Given the description of an element on the screen output the (x, y) to click on. 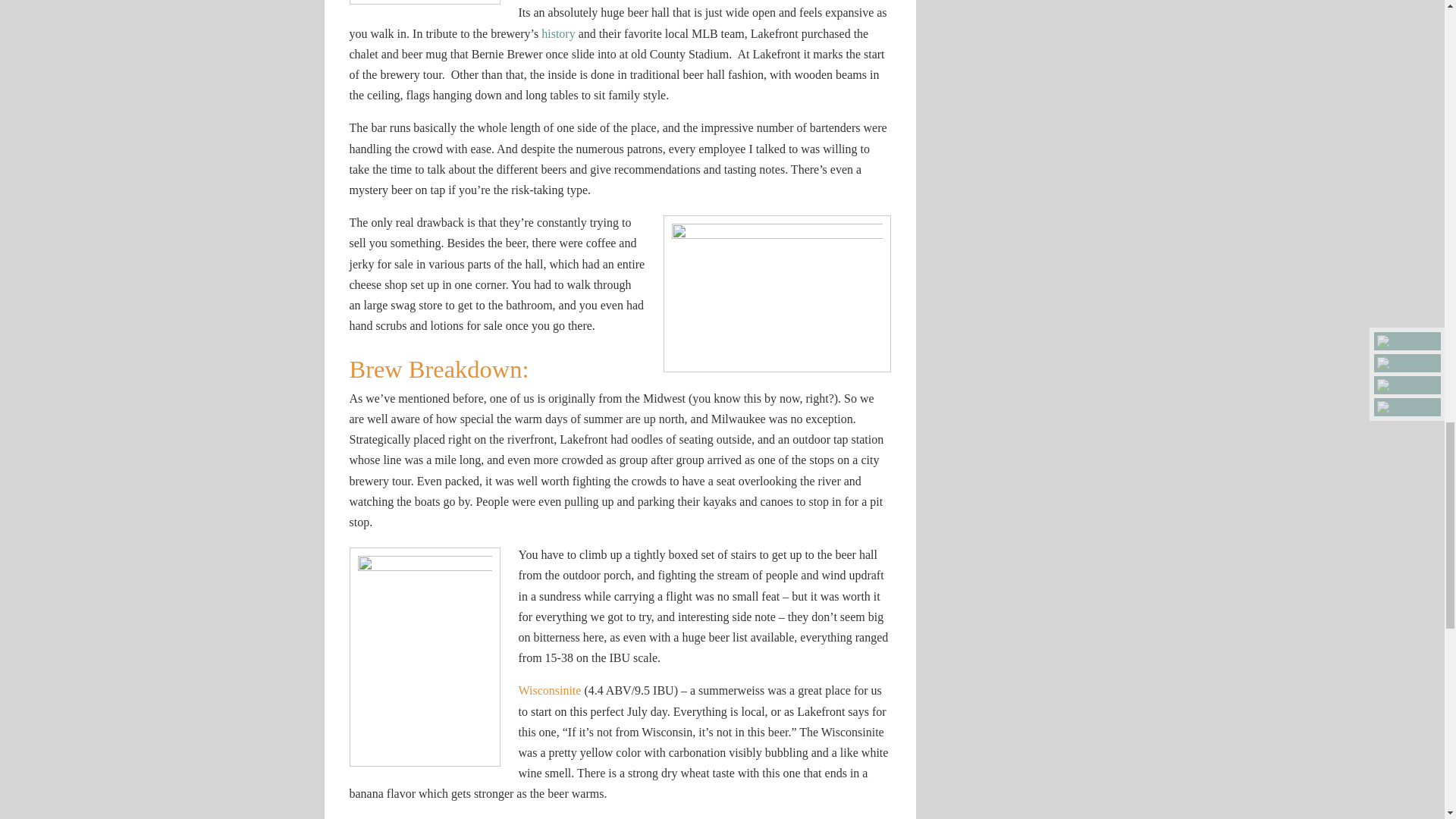
history (558, 33)
